Given the description of an element on the screen output the (x, y) to click on. 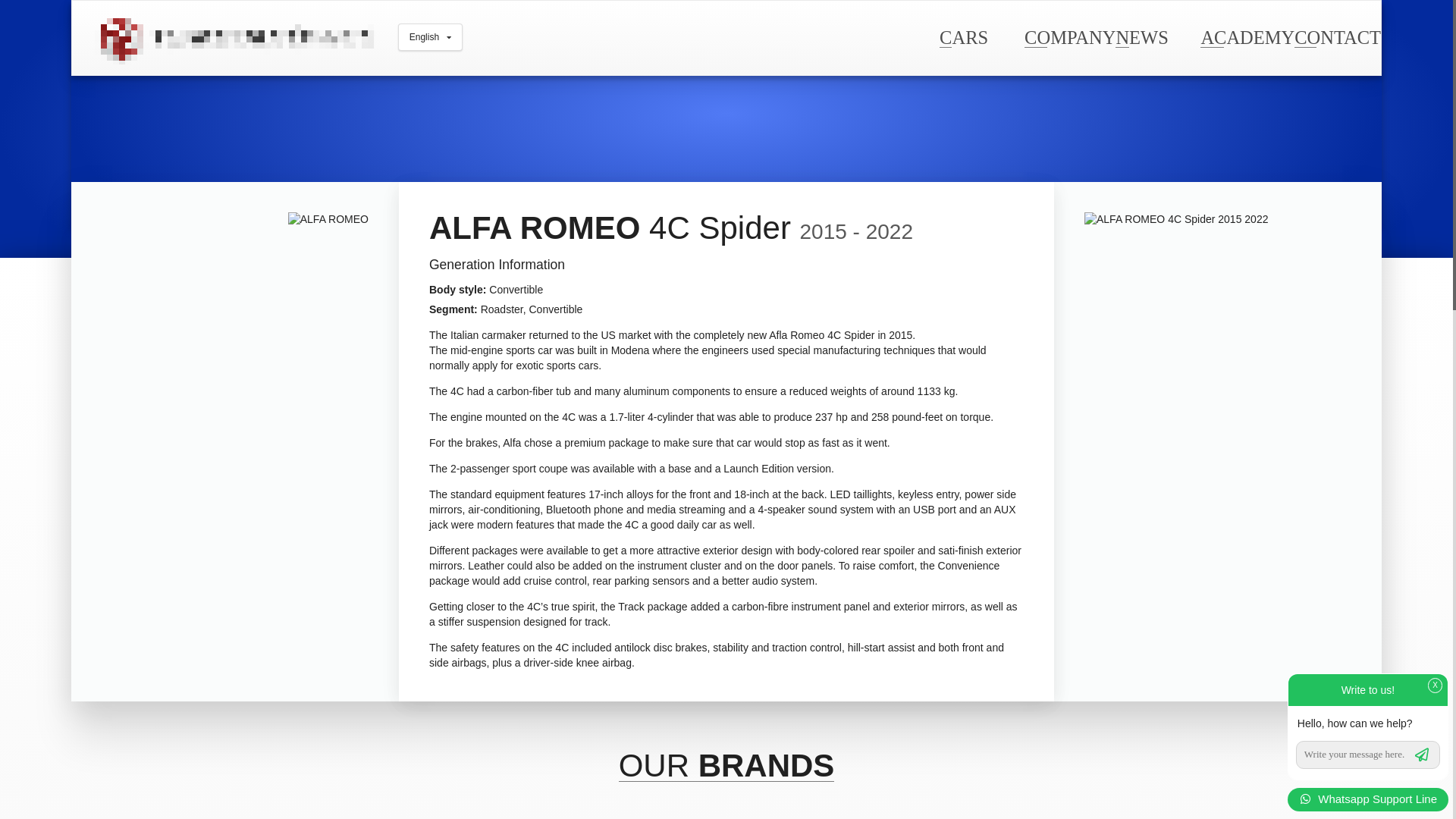
CONTACT (1337, 37)
COMPANY (1070, 37)
ACADEMY (1246, 37)
CARS (963, 37)
NEWS (1141, 37)
